Given the description of an element on the screen output the (x, y) to click on. 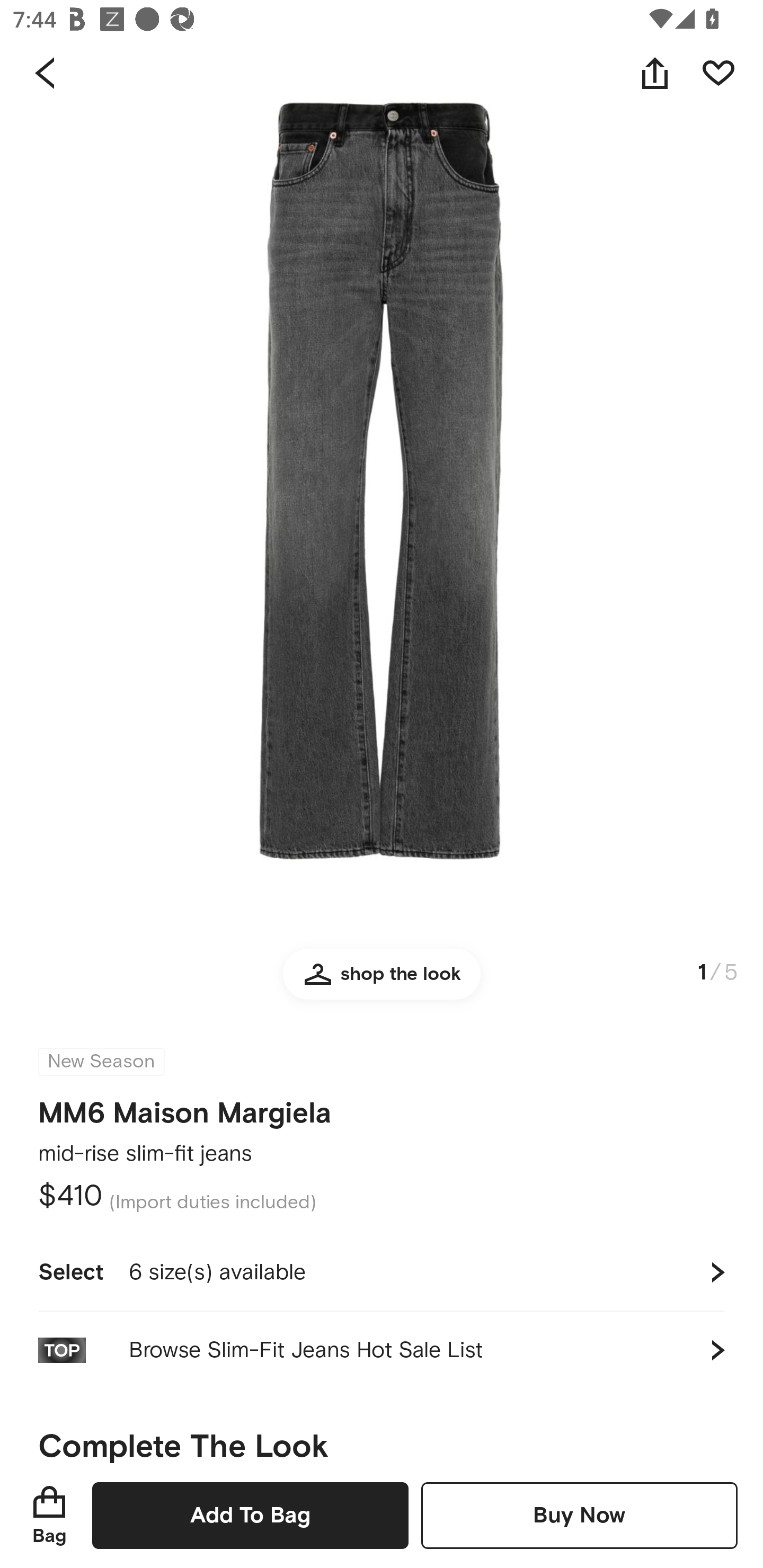
shop the look (381, 982)
MM6 Maison Margiela (184, 1113)
Select 6 size(s) available (381, 1272)
Browse Slim-Fit Jeans Hot Sale List (381, 1349)
Bag (49, 1515)
Add To Bag (250, 1515)
Buy Now (579, 1515)
